Given the description of an element on the screen output the (x, y) to click on. 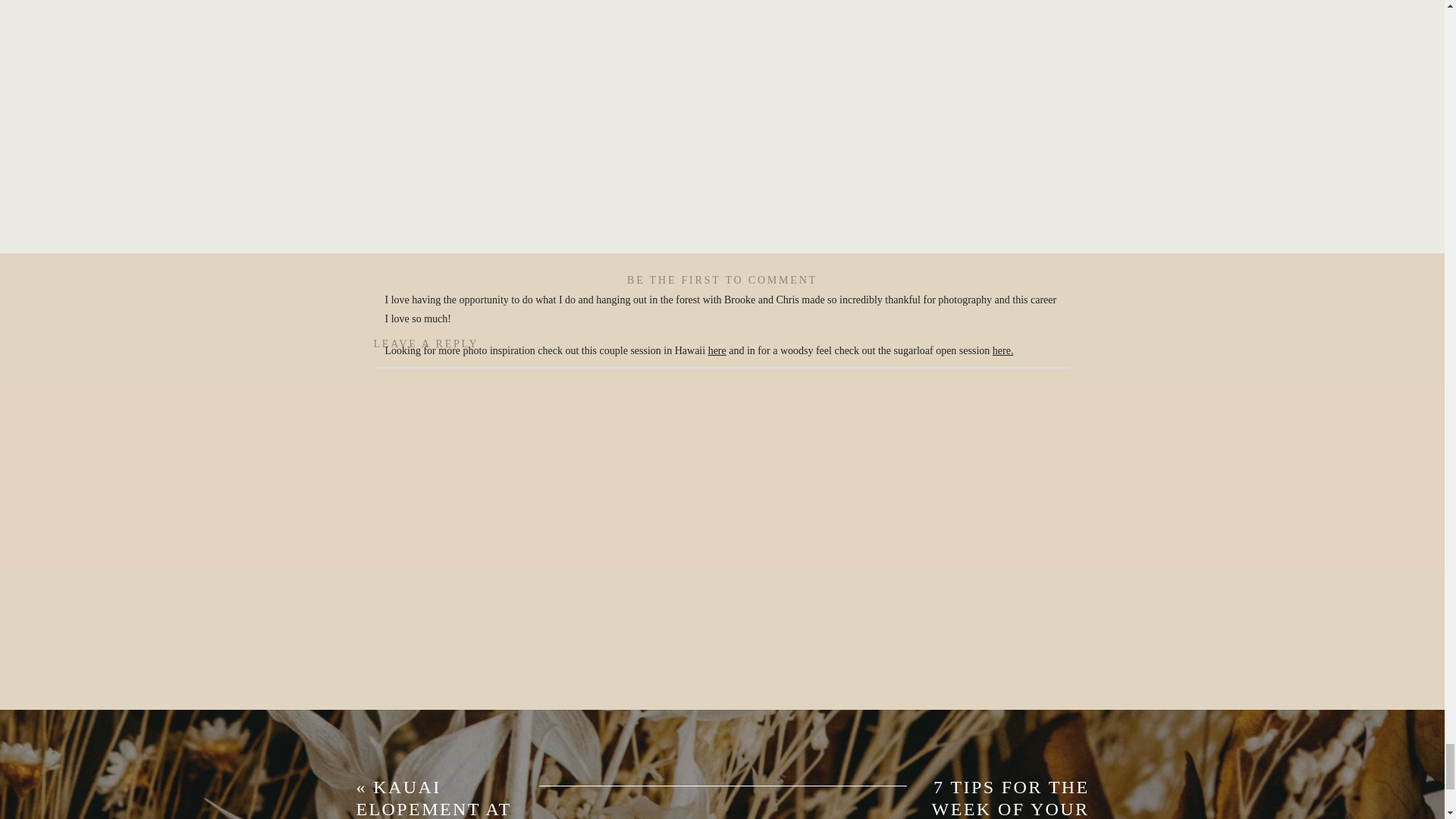
here (716, 350)
BE THE FIRST TO COMMENT (721, 279)
here. (1002, 350)
7 TIPS FOR THE WEEK OF YOUR WEDDING (1010, 798)
